Given the description of an element on the screen output the (x, y) to click on. 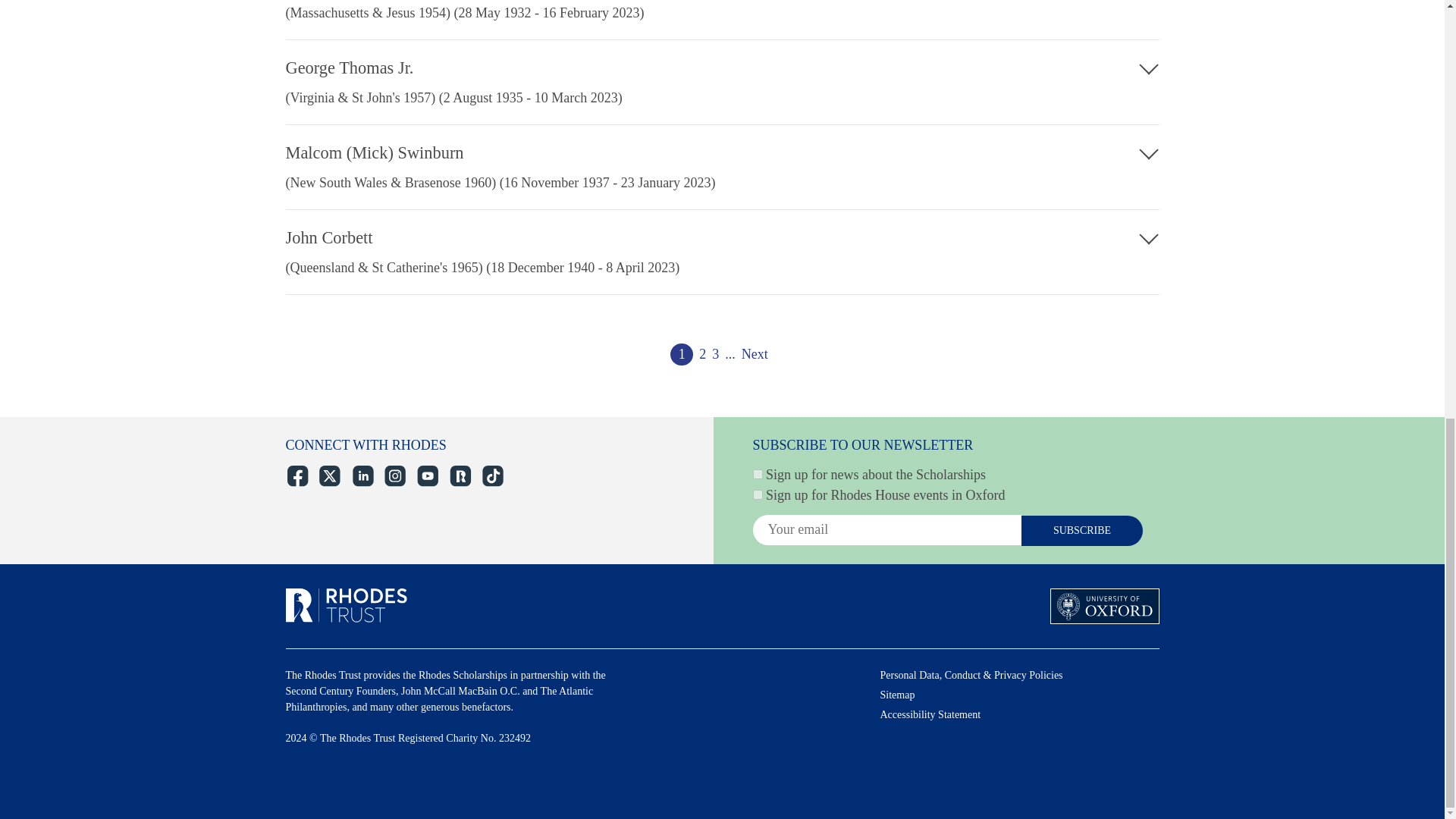
on (756, 494)
on (756, 474)
Visit our Tik Tok page - Opens in a new window (491, 476)
Enter your email address (886, 530)
